Given the description of an element on the screen output the (x, y) to click on. 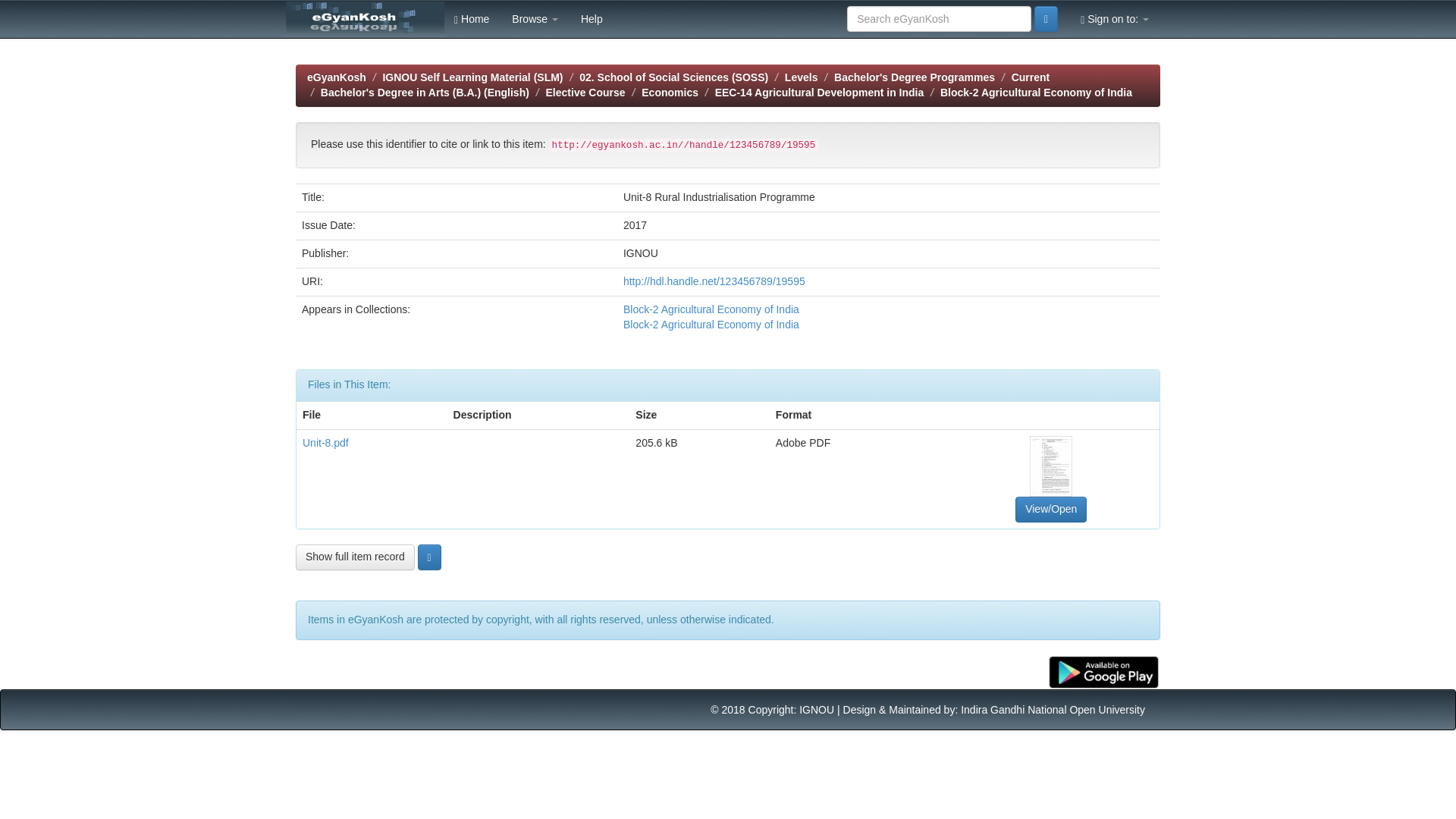
Unit-8.pdf (325, 442)
Help (591, 18)
Sign on to: (1114, 18)
Block-2 Agricultural Economy of India (711, 309)
eGyanKosh (336, 77)
Block-2 Agricultural Economy of India (1036, 92)
Current (1030, 77)
Elective Course (586, 92)
Levels (801, 77)
Home (471, 18)
Browse (534, 18)
Bachelor's Degree Programmes (914, 77)
Indira Gandhi National Open University (1052, 709)
Economics (670, 92)
Show full item record (354, 557)
